Given the description of an element on the screen output the (x, y) to click on. 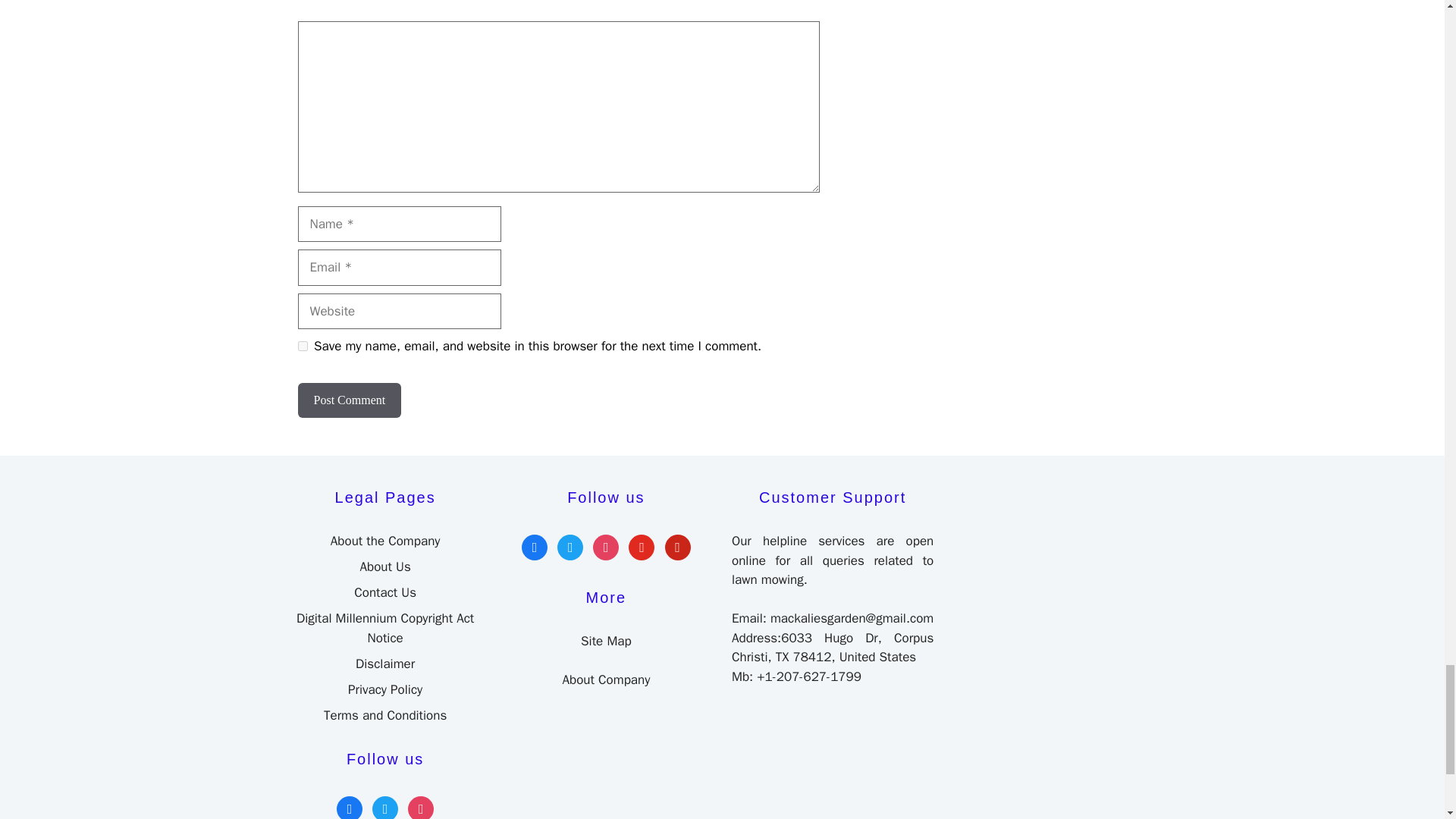
Post Comment (349, 400)
Post Comment (349, 400)
yes (302, 346)
